Given the description of an element on the screen output the (x, y) to click on. 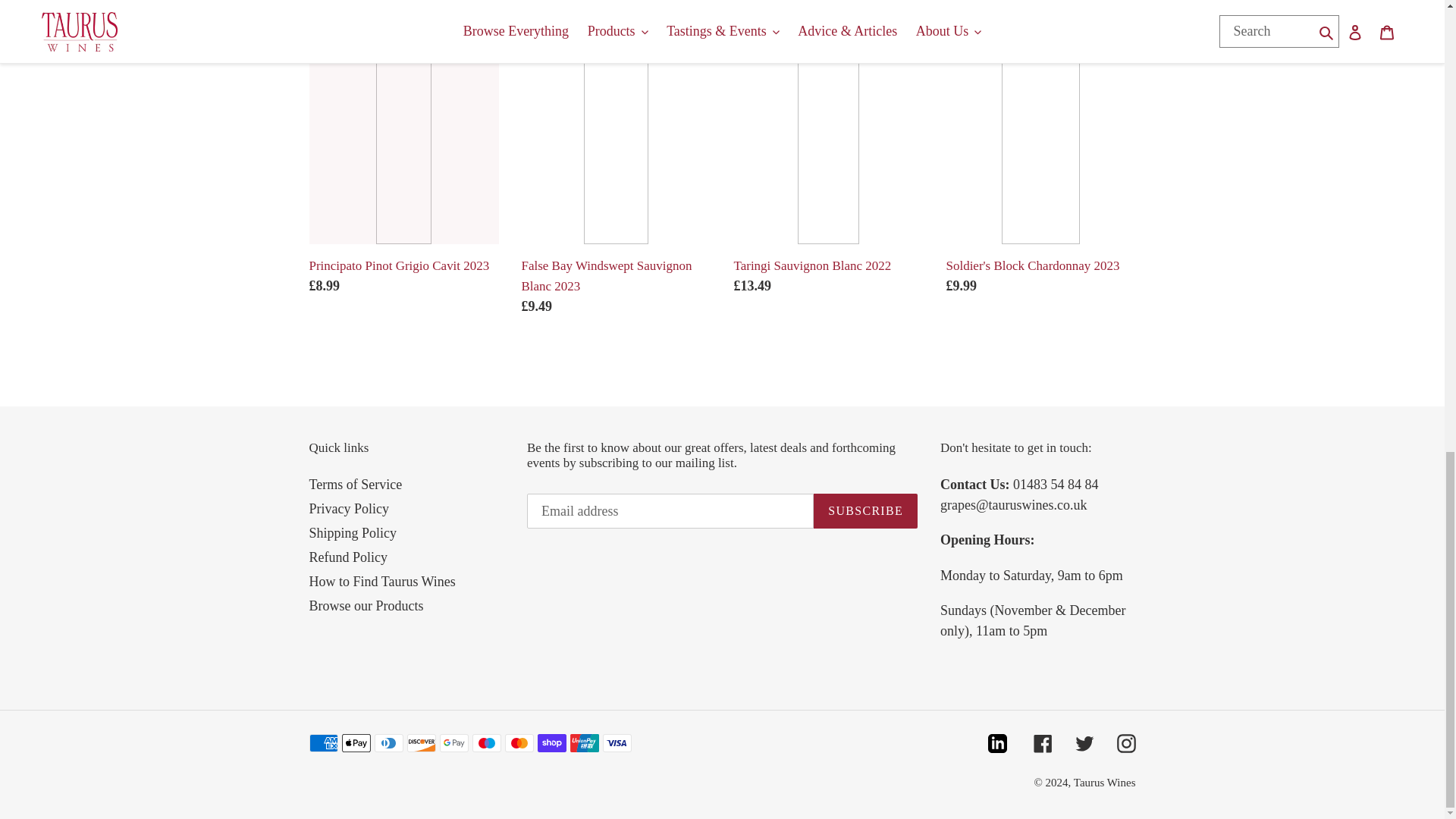
Apple Pay (354, 742)
Maestro (485, 742)
Google Pay (453, 742)
Mastercard (519, 742)
Union Pay (584, 742)
Shop Pay (551, 742)
American Express (322, 742)
Diners Club (388, 742)
Discover (420, 742)
